Given the description of an element on the screen output the (x, y) to click on. 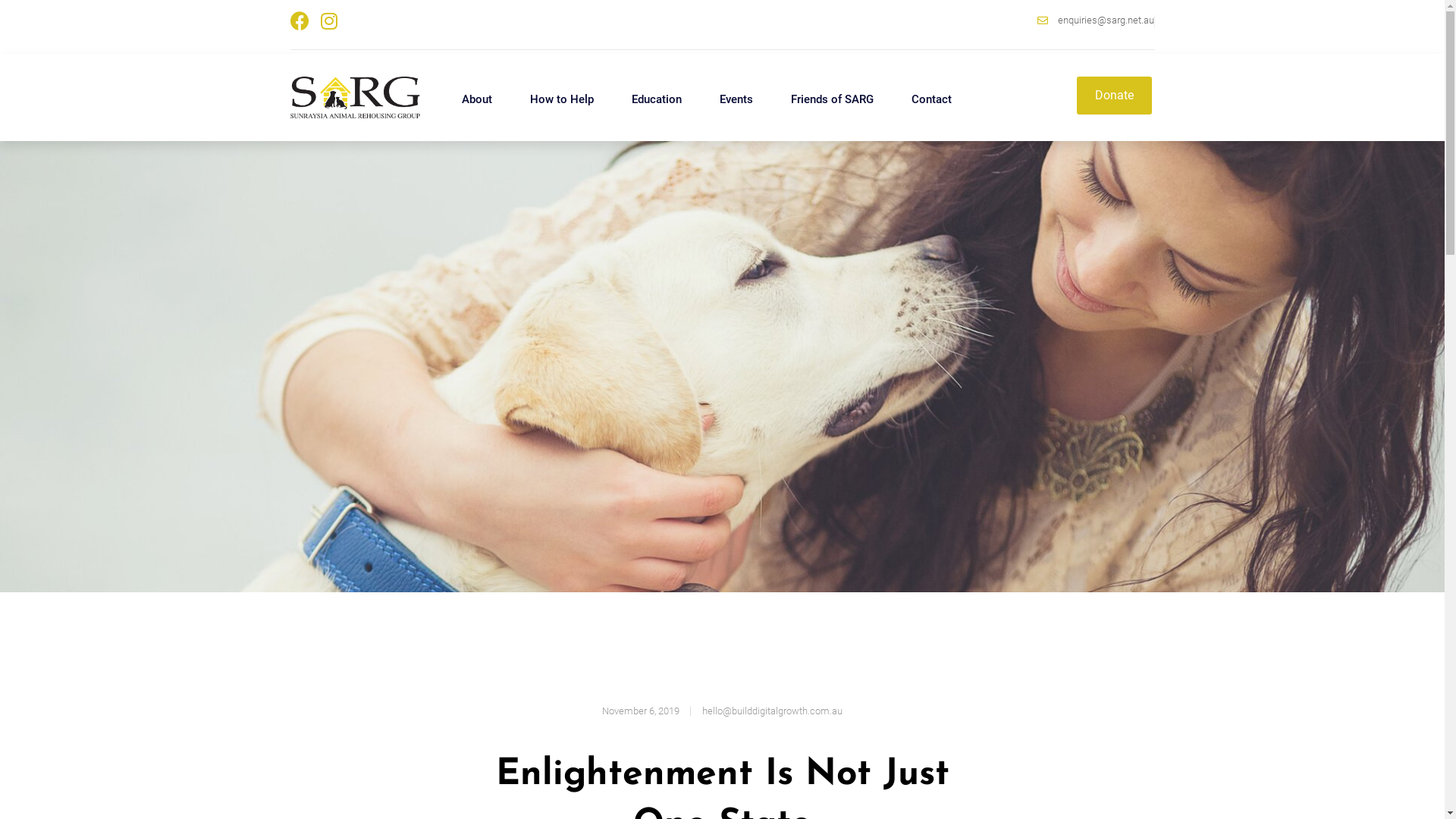
enquiries@sarg.net.au Element type: text (937, 20)
Donate Element type: text (1113, 95)
About Element type: text (476, 99)
How to Help Element type: text (561, 99)
November 6, 2019 Element type: text (640, 710)
Contact Element type: text (931, 99)
Friends of SARG Element type: text (831, 99)
Events Element type: text (736, 99)
Education Element type: text (656, 99)
hello@builddigitalgrowth.com.au Element type: text (772, 710)
